Given the description of an element on the screen output the (x, y) to click on. 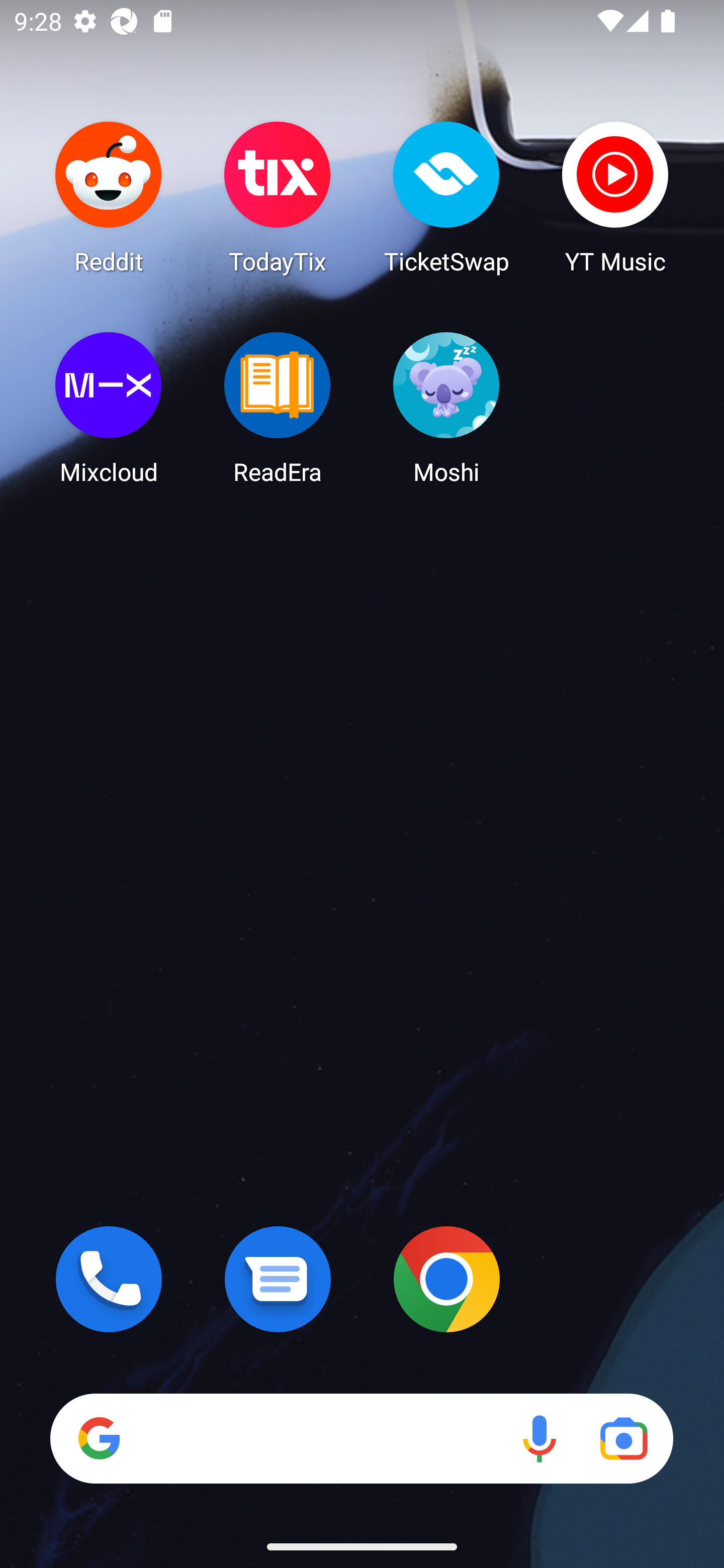
Reddit (108, 196)
TodayTix (277, 196)
TicketSwap (445, 196)
YT Music (615, 196)
Mixcloud (108, 407)
ReadEra (277, 407)
Moshi (445, 407)
Phone (108, 1279)
Messages (277, 1279)
Chrome (446, 1279)
Voice search (539, 1438)
Google Lens (623, 1438)
